Given the description of an element on the screen output the (x, y) to click on. 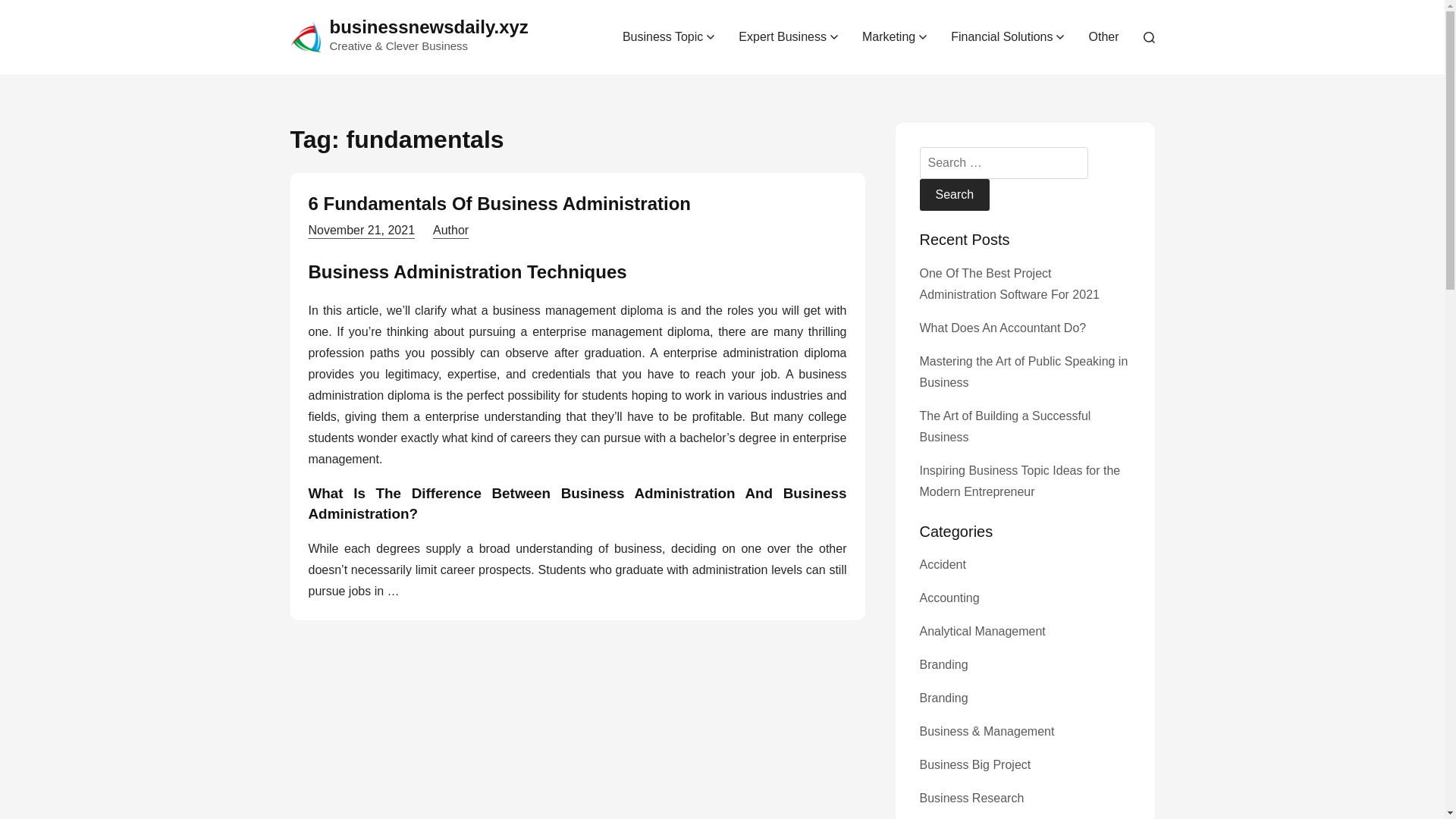
November 21, 2021 (360, 229)
Business Topic (668, 36)
Search (954, 194)
Financial Solutions (1007, 36)
6 Fundamentals Of Business Administration (498, 203)
Search (954, 194)
Search (954, 194)
businessnewsdaily.xyz (428, 26)
Other (1103, 36)
Author (450, 229)
Marketing (894, 36)
Expert Business (788, 36)
